Given the description of an element on the screen output the (x, y) to click on. 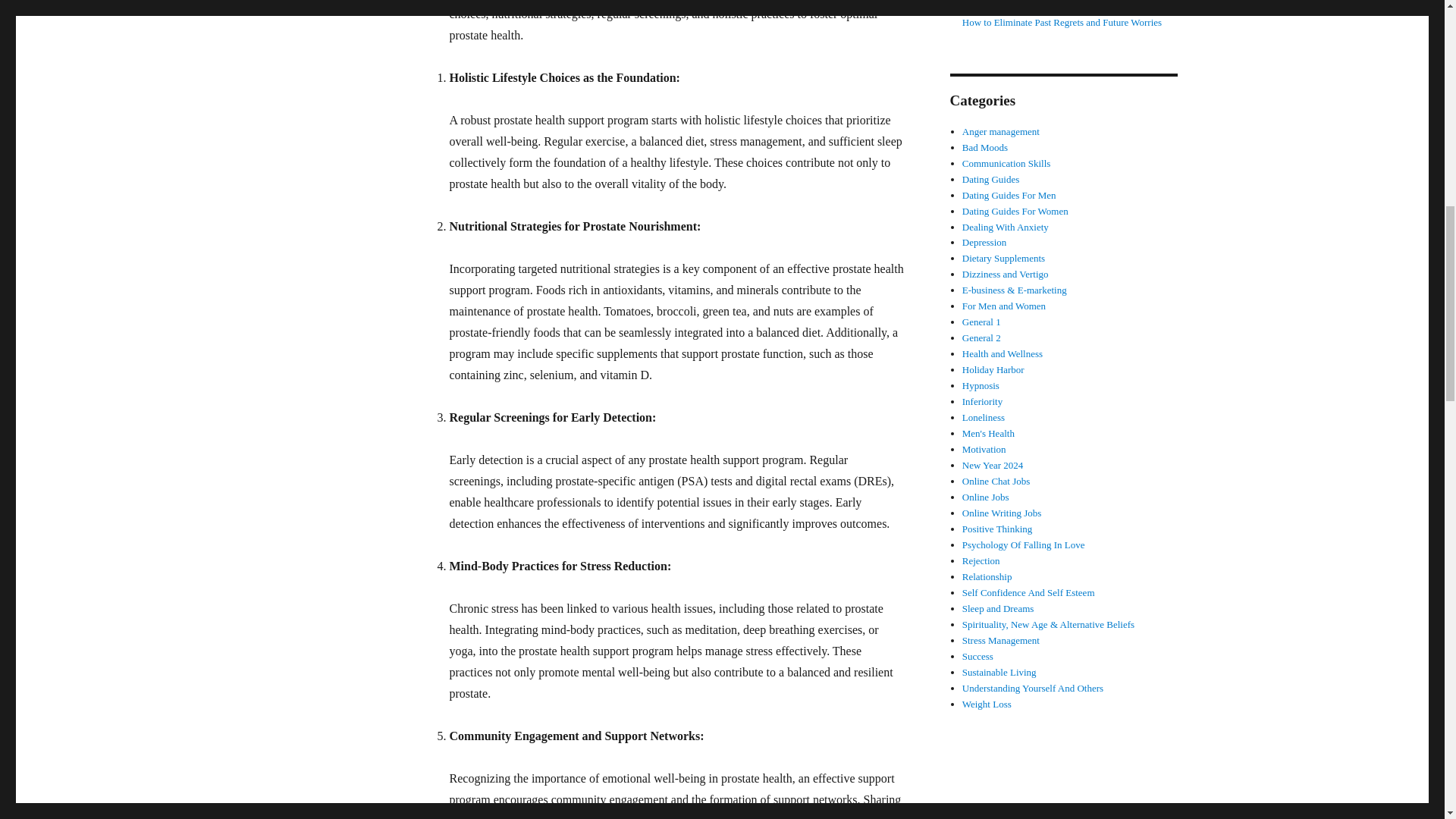
Depression (984, 242)
Dating Guides For Men (1009, 194)
Online Chat Jobs (996, 480)
Dietary Supplements (1003, 257)
General 1 (981, 321)
General 2 (981, 337)
How to Eliminate Past Regrets and Future Worries (1061, 21)
Anger management (1000, 131)
Dizziness and Vertigo (1005, 274)
